Given the description of an element on the screen output the (x, y) to click on. 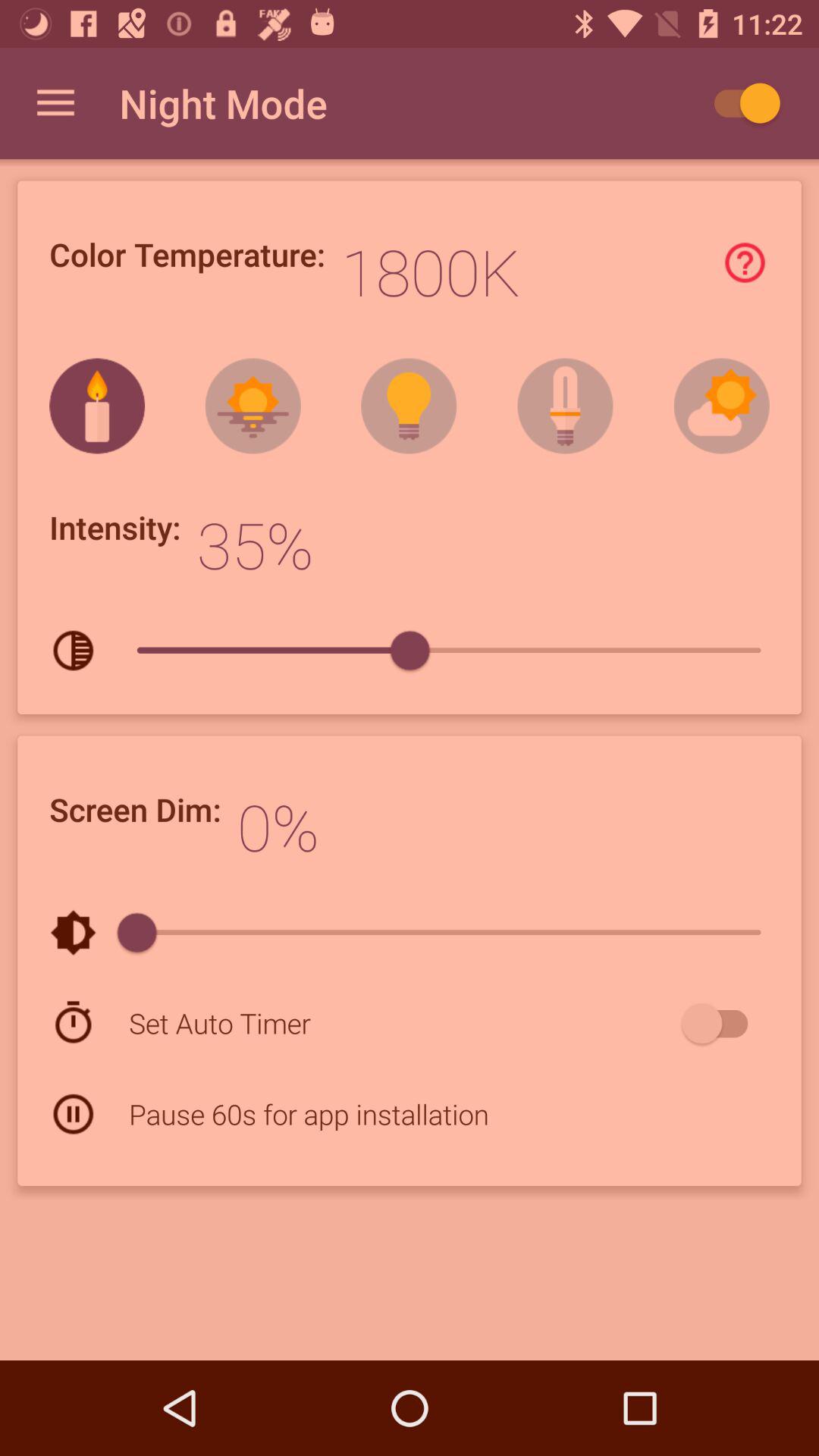
launch icon next to set auto timer item (722, 1023)
